Given the description of an element on the screen output the (x, y) to click on. 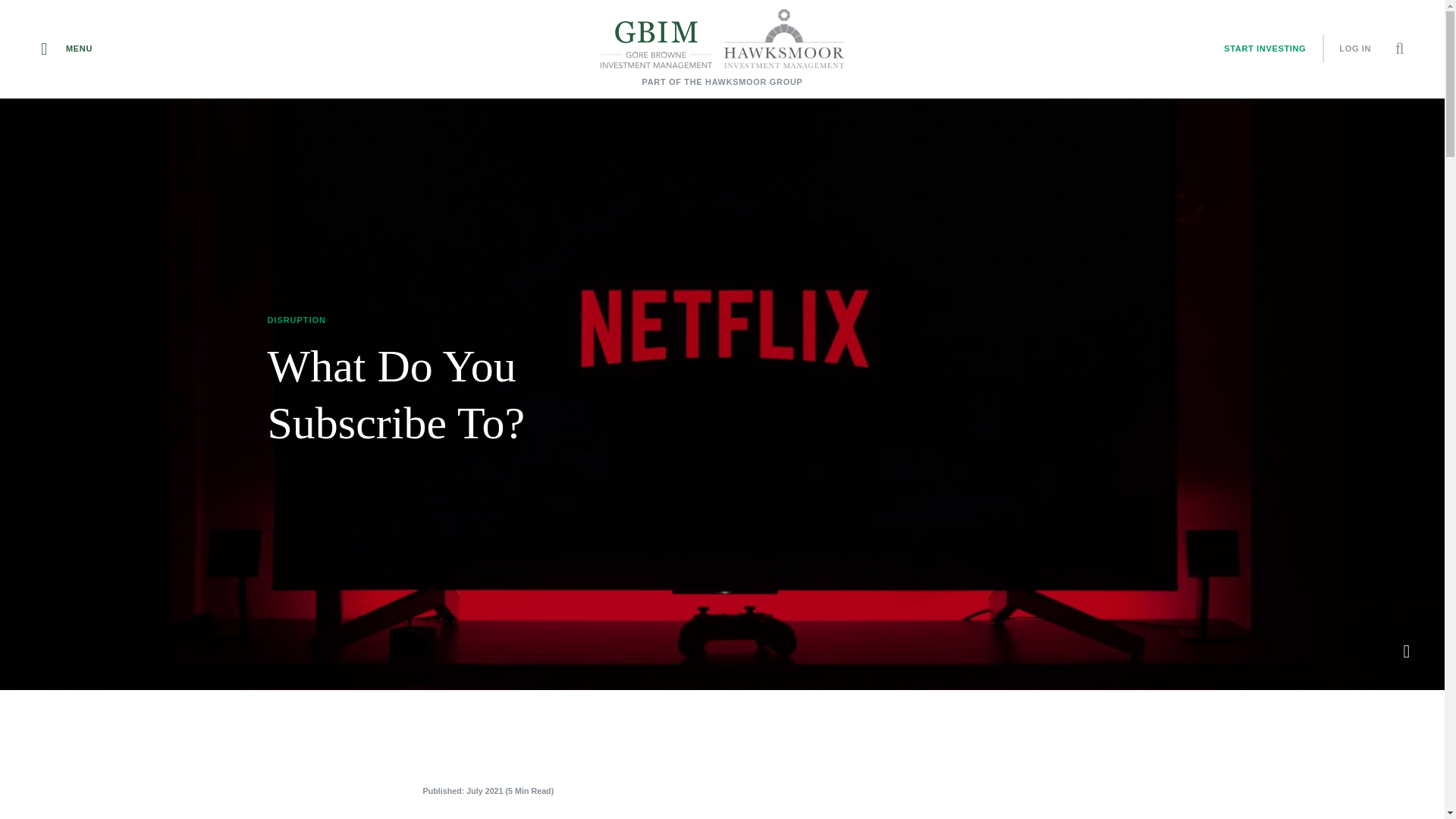
START INVESTING (1264, 49)
DISRUPTION (295, 319)
LOG IN (1358, 49)
